Given the description of an element on the screen output the (x, y) to click on. 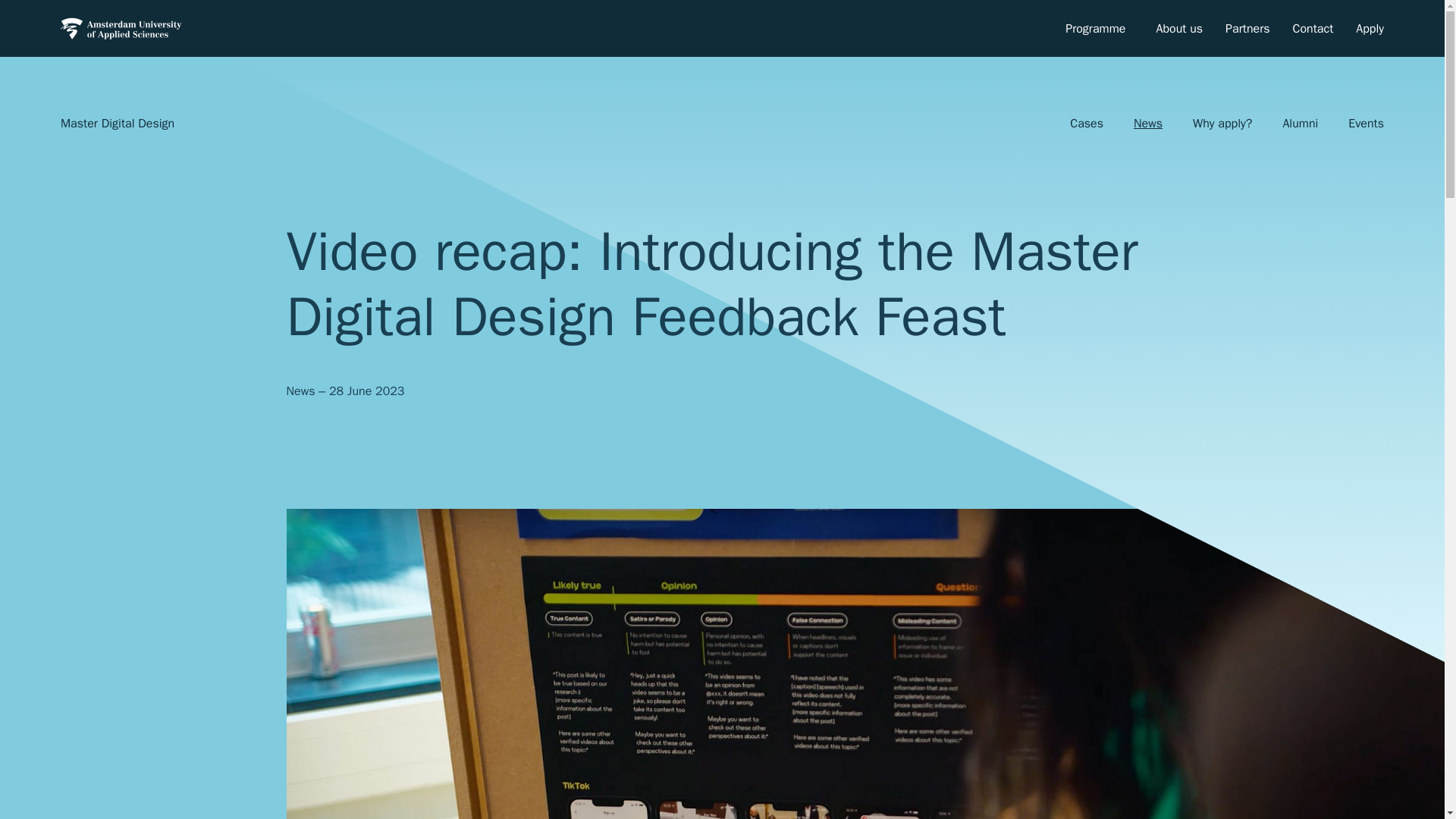
Events (1365, 122)
Master Digital Design (117, 122)
Contact (1312, 28)
Amsterdam University of Applied Sciences (120, 28)
Programme (1095, 28)
Partners (1246, 28)
Why apply? (1222, 122)
News (1147, 122)
Cases (1086, 122)
About us (1178, 28)
Alumni (1299, 122)
Apply (1369, 28)
